Given the description of an element on the screen output the (x, y) to click on. 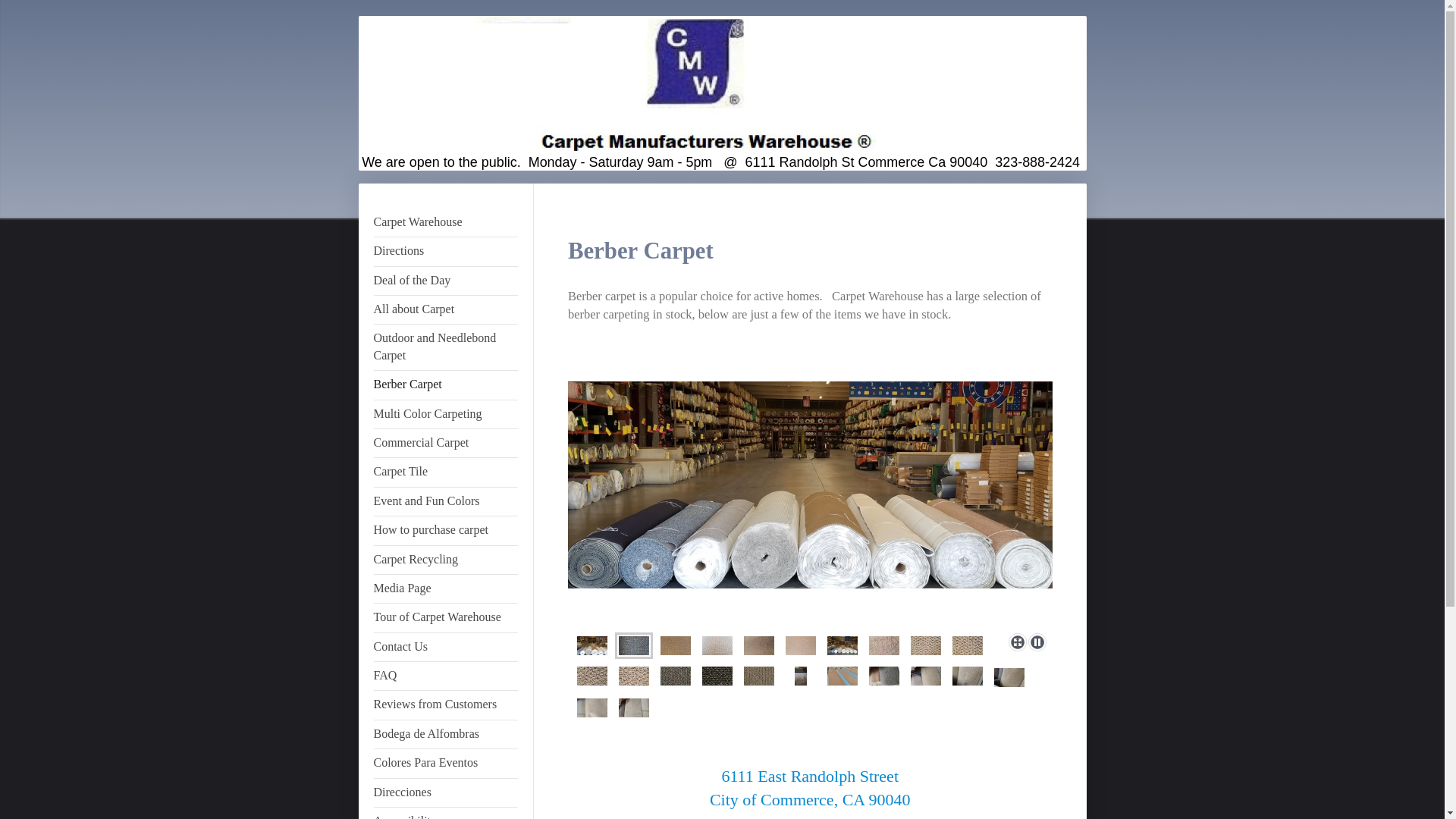
How to purchase carpet (444, 530)
Media Page (444, 588)
Carpet Warehouse (444, 222)
Directions (444, 251)
Commercial Carpet (444, 442)
Event and Fun Colors (444, 501)
Berber Carpet (444, 384)
Deal of the Day (444, 280)
Contact Us (444, 646)
